Given the description of an element on the screen output the (x, y) to click on. 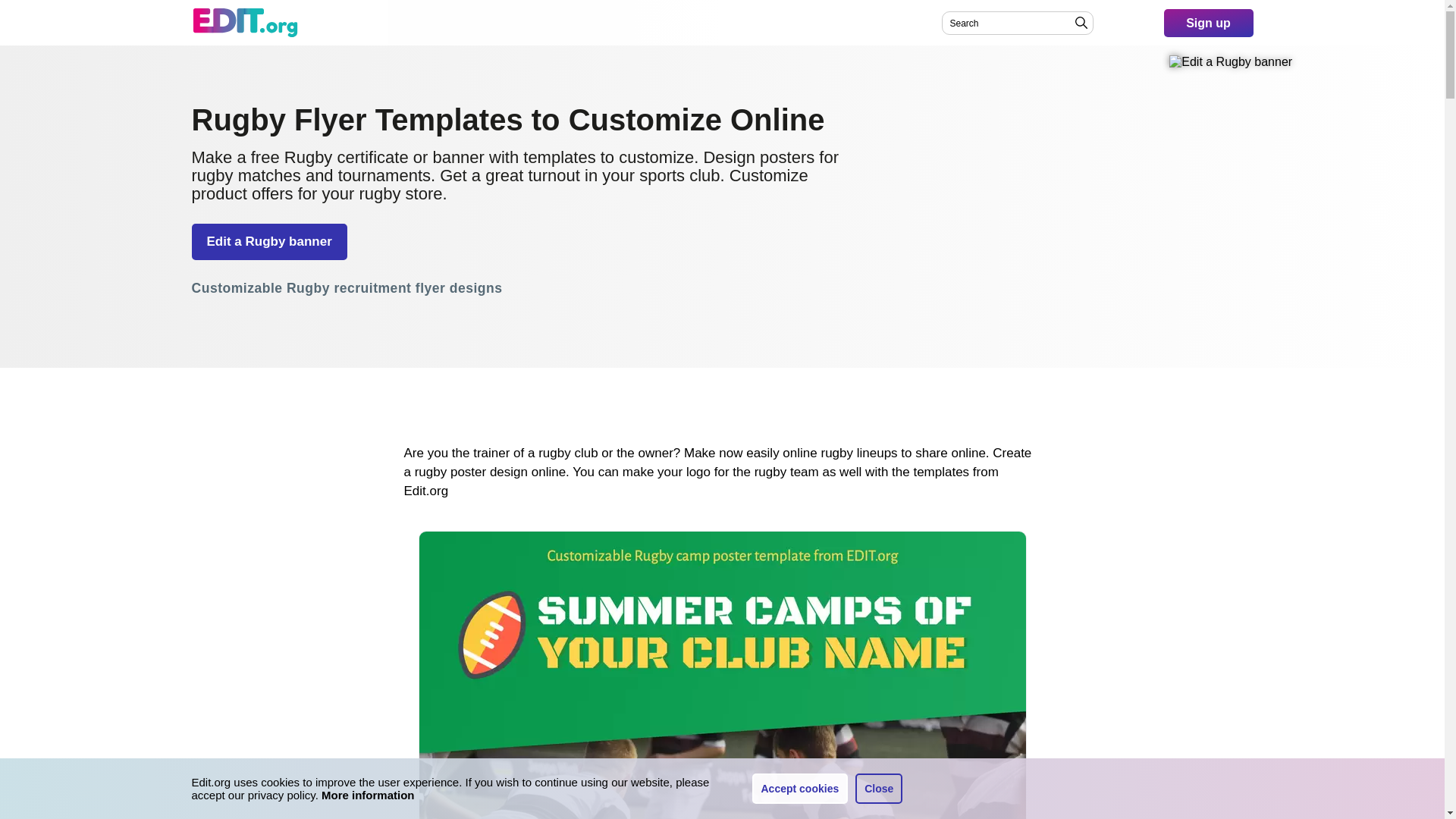
Sign up (1207, 22)
More information (367, 794)
Edit a Rugby banner (268, 241)
Customizable Rugby recruitment flyer designs (346, 289)
Customizable Rugby recruitment flyer designs (346, 289)
Close (879, 788)
Edit.org online editor (244, 22)
Accept cookies (800, 788)
